Given the description of an element on the screen output the (x, y) to click on. 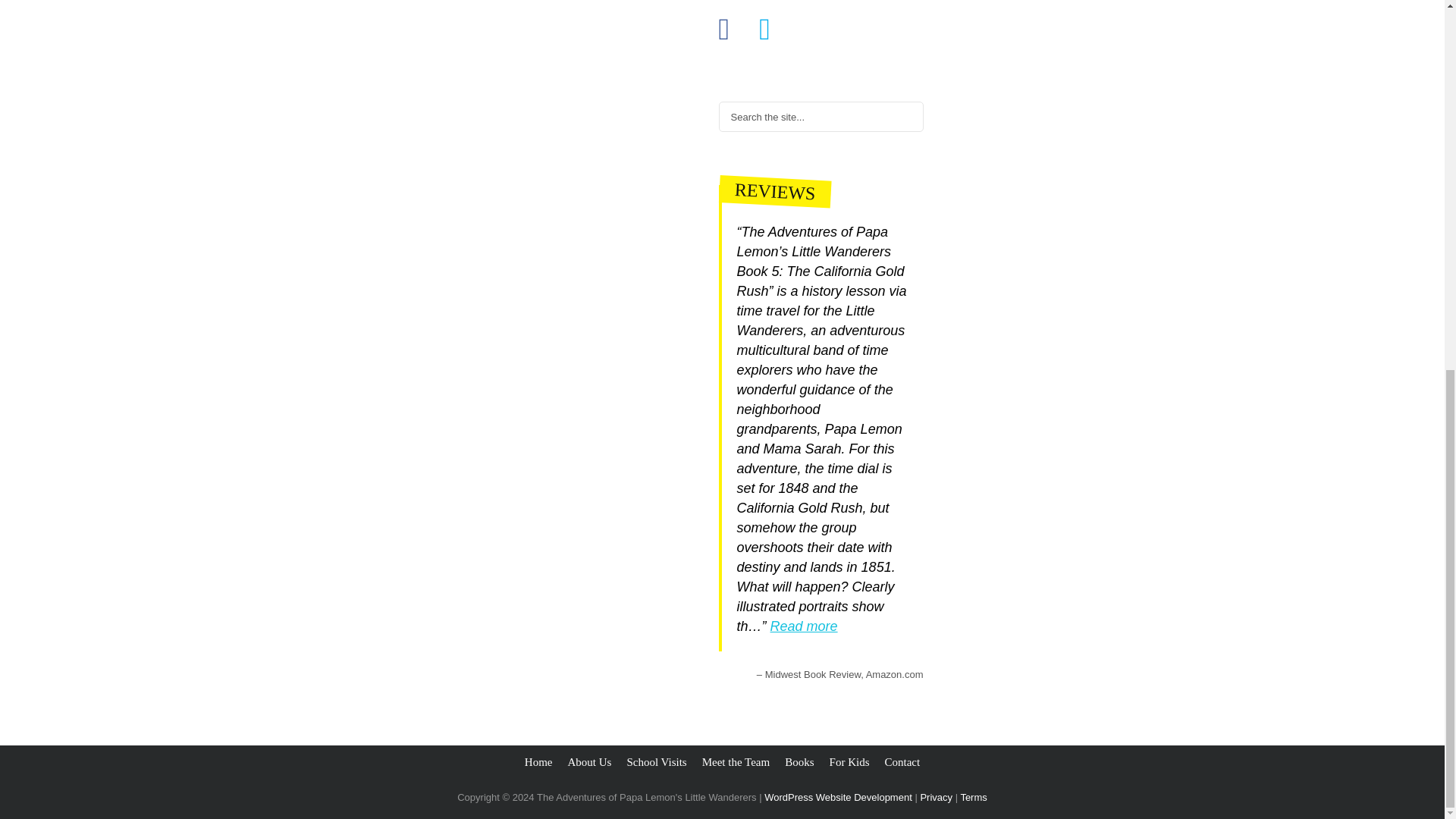
School Visits (655, 761)
Contact (901, 761)
Meet the Team (735, 761)
For Kids (849, 761)
Terms (973, 797)
About Us (589, 761)
Read more (804, 626)
Home (538, 761)
Complete testimonial by Midwest Book Review, Amazon.com (804, 626)
WordPress Website Development (838, 797)
